Given the description of an element on the screen output the (x, y) to click on. 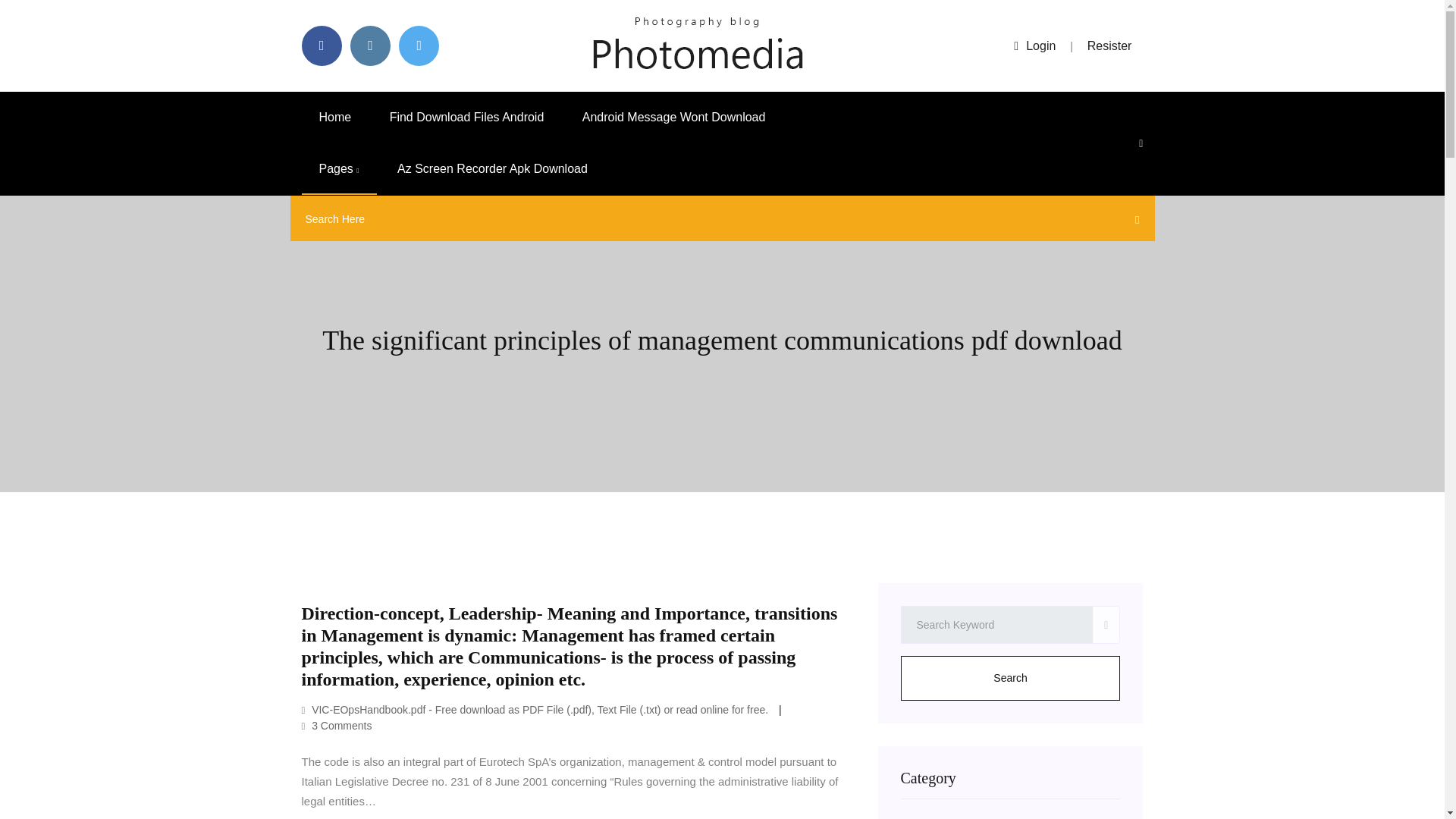
3 Comments (336, 725)
Resister (1109, 45)
Find Download Files Android (467, 117)
Home (335, 117)
Az Screen Recorder Apk Download (492, 168)
Pages (339, 168)
Android Message Wont Download (673, 117)
Login (1034, 45)
